Given the description of an element on the screen output the (x, y) to click on. 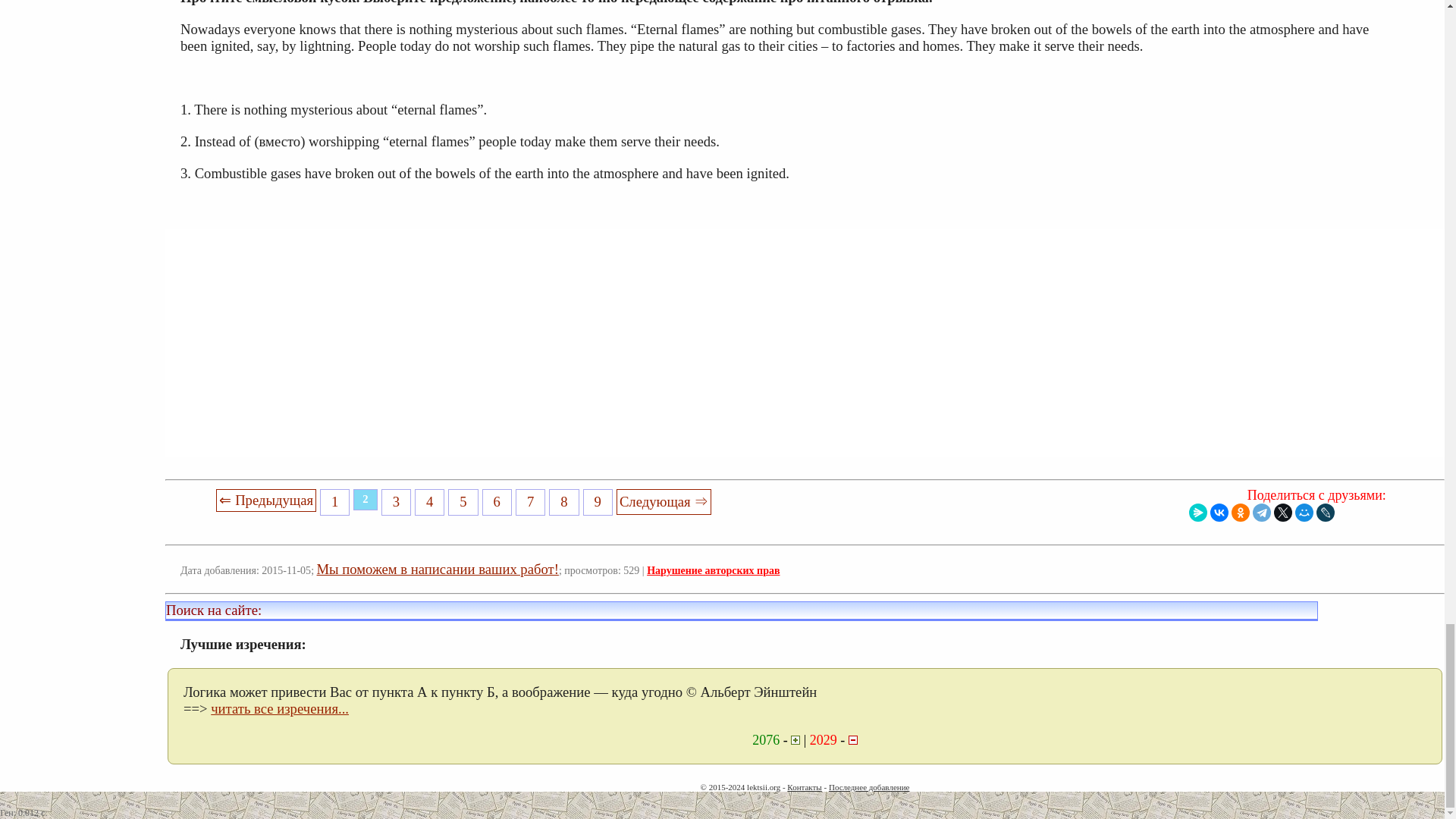
LiveJournal (1325, 512)
Twitter (1283, 512)
Telegram (1261, 512)
